Given the description of an element on the screen output the (x, y) to click on. 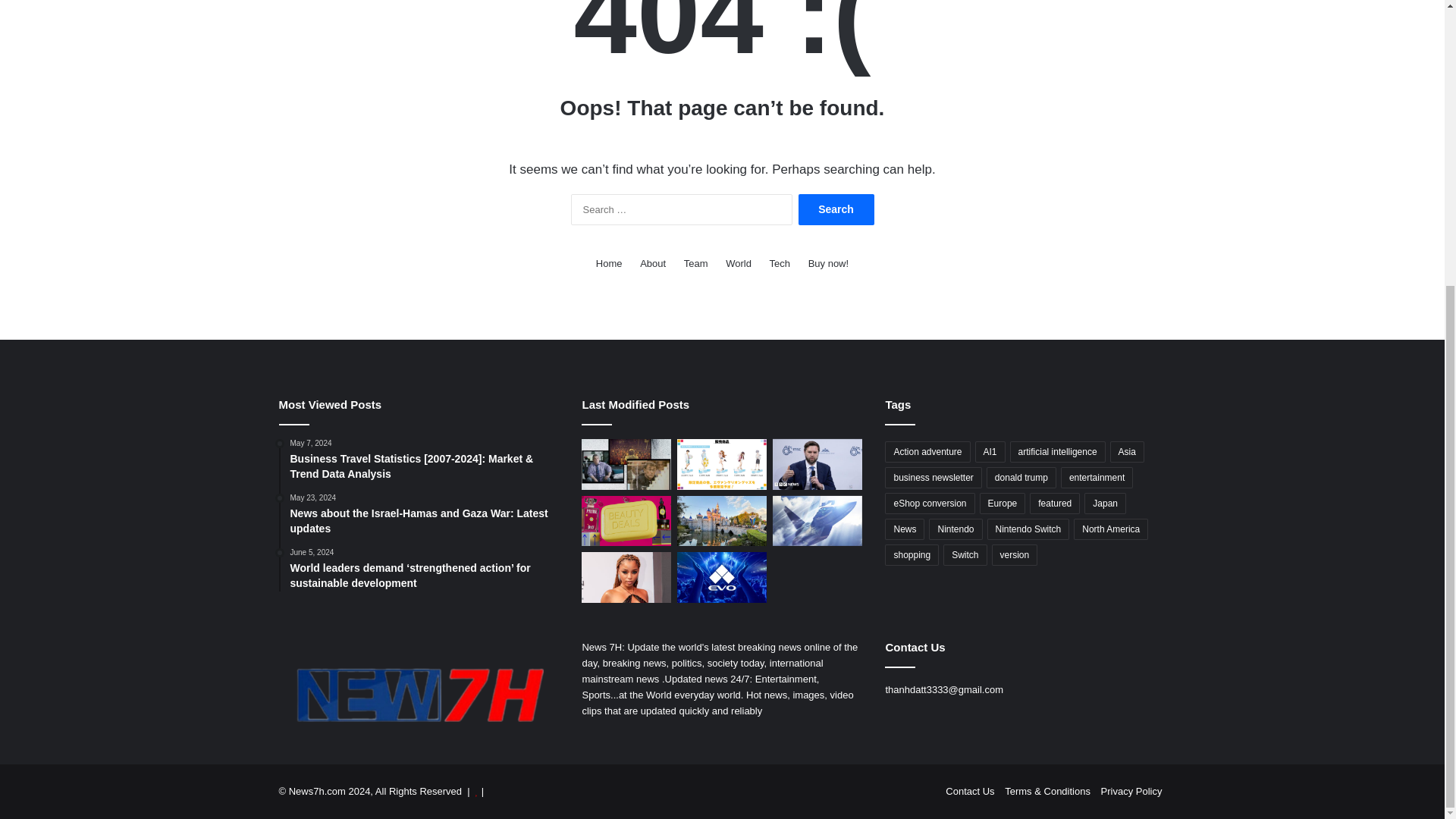
Buy now! (828, 263)
World (738, 263)
Action adventure (927, 451)
entertainment (1096, 477)
artificial intelligence (1057, 451)
Tech (780, 263)
donald trump (1022, 477)
Search (835, 209)
eShop conversion (929, 503)
Search (835, 209)
Buy now! (828, 263)
business newsletter (933, 477)
AI1 (990, 451)
About (652, 263)
